Given the description of an element on the screen output the (x, y) to click on. 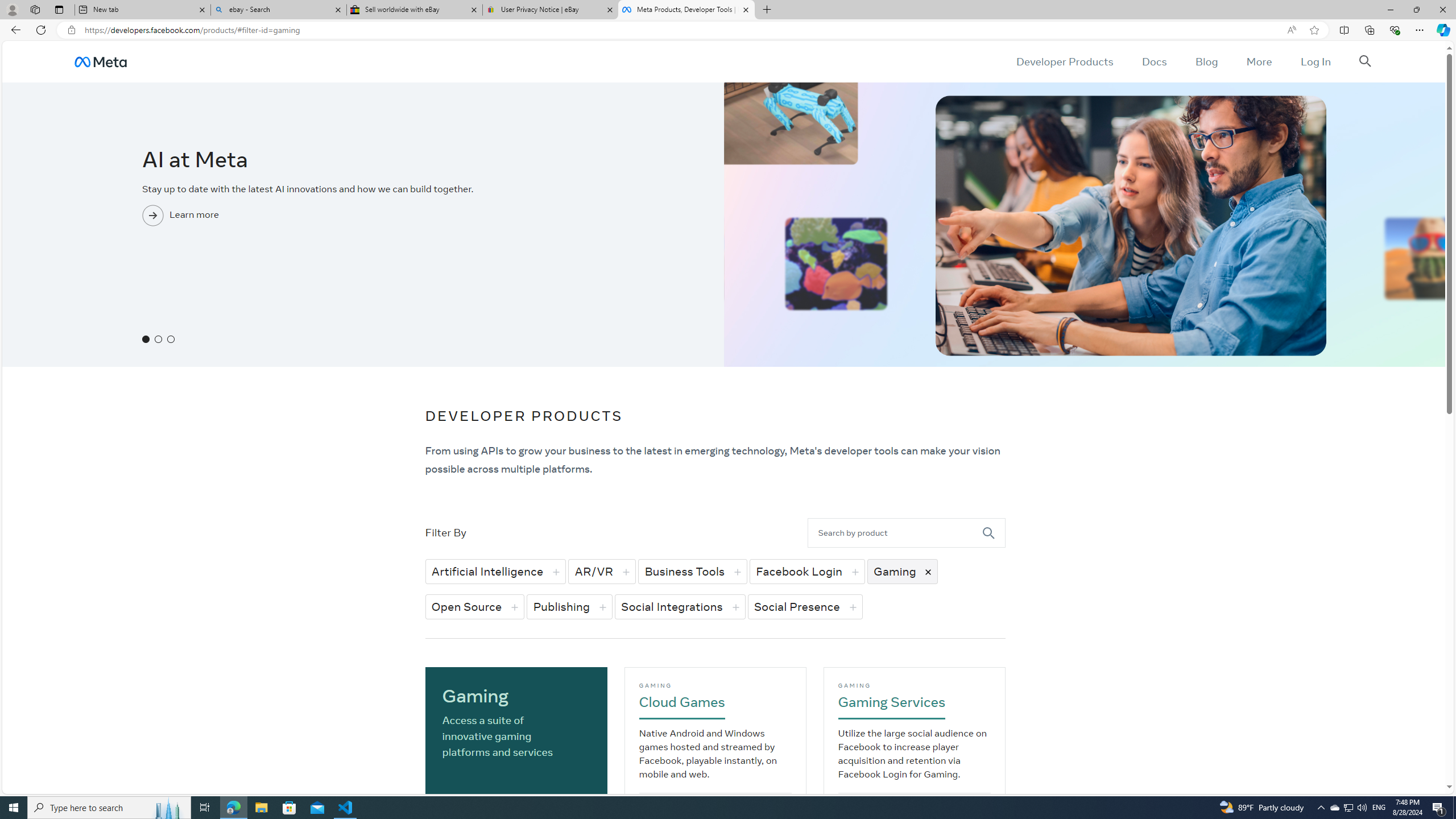
Show slide 2 (158, 339)
AutomationID: u_0_3h_wf (100, 61)
Meta Products, Developer Tools | Meta for Developers (685, 9)
Business Tools (691, 571)
Log In (1315, 61)
More (1259, 61)
Publishing (569, 606)
AR/VR (601, 571)
Social Presence (804, 606)
Learn more (362, 236)
Search by product (895, 532)
